Given the description of an element on the screen output the (x, y) to click on. 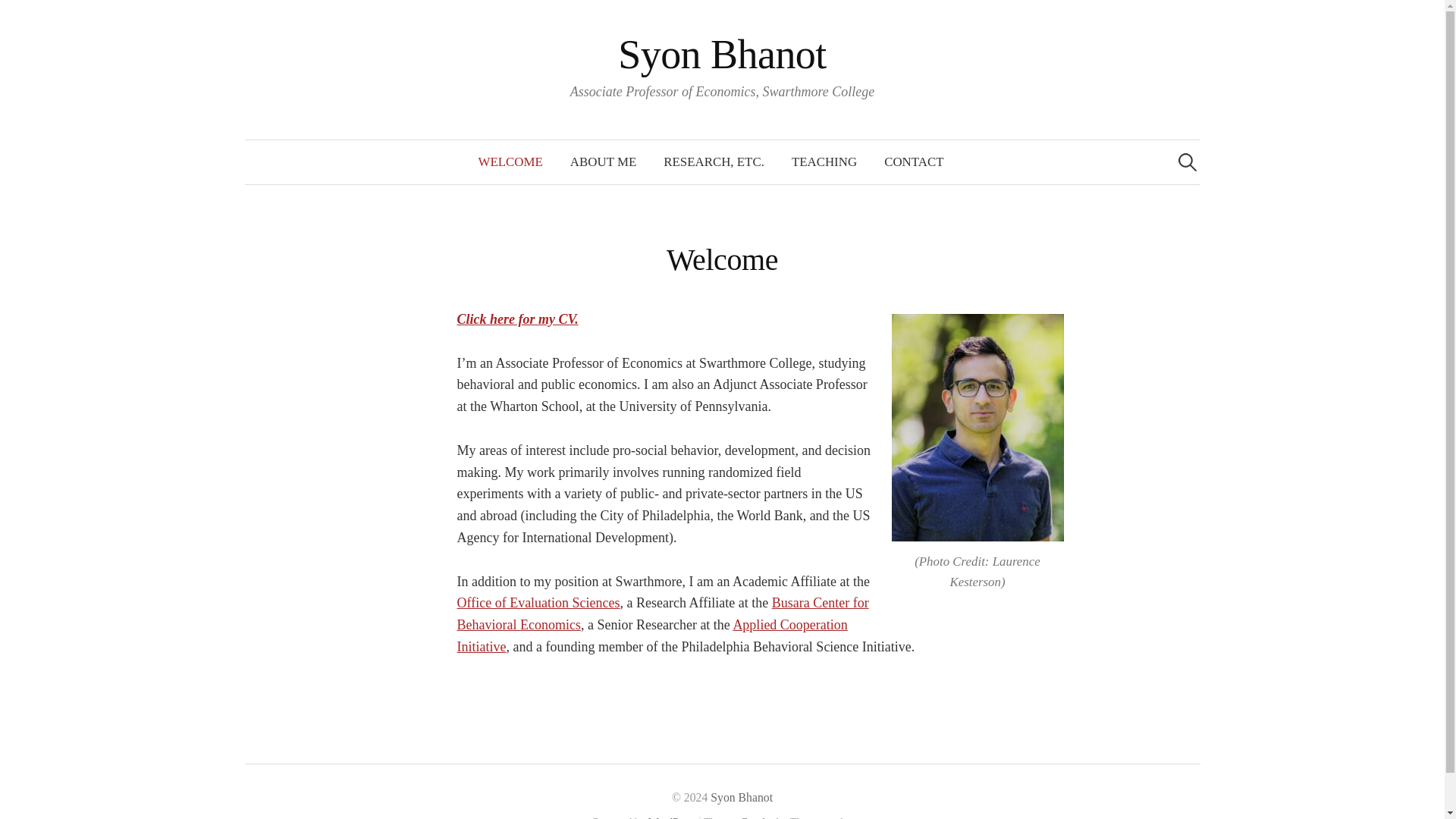
Click here for my CV. (517, 319)
Syon Bhanot (741, 797)
TEACHING (823, 162)
WELCOME (510, 162)
WordPress (671, 817)
Applied Cooperation Initiative (652, 635)
RESEARCH, ETC. (713, 162)
Search (18, 18)
Syon Bhanot (722, 53)
Busara Center for Behavioral Economics (662, 613)
ABOUT ME (602, 162)
Office of Evaluation Sciences (538, 602)
Graphy (756, 817)
CONTACT (913, 162)
